Given the description of an element on the screen output the (x, y) to click on. 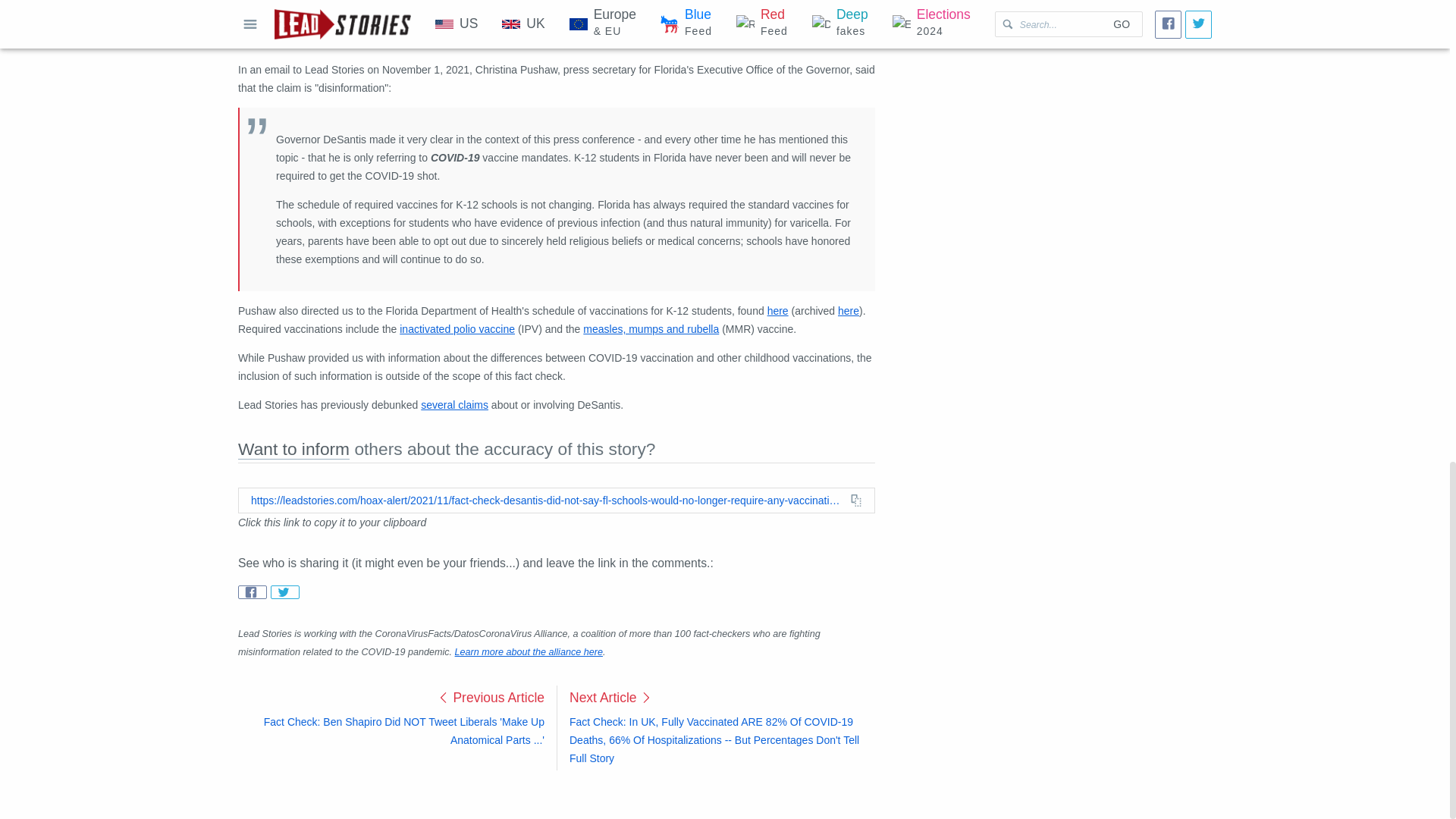
measles, mumps and rubella (651, 328)
Learn more about the alliance here (528, 652)
several claims (453, 404)
here (778, 310)
here (848, 310)
mandate (401, 22)
announce a lawsuit (501, 5)
inactivated polio vaccine (456, 328)
